Given the description of an element on the screen output the (x, y) to click on. 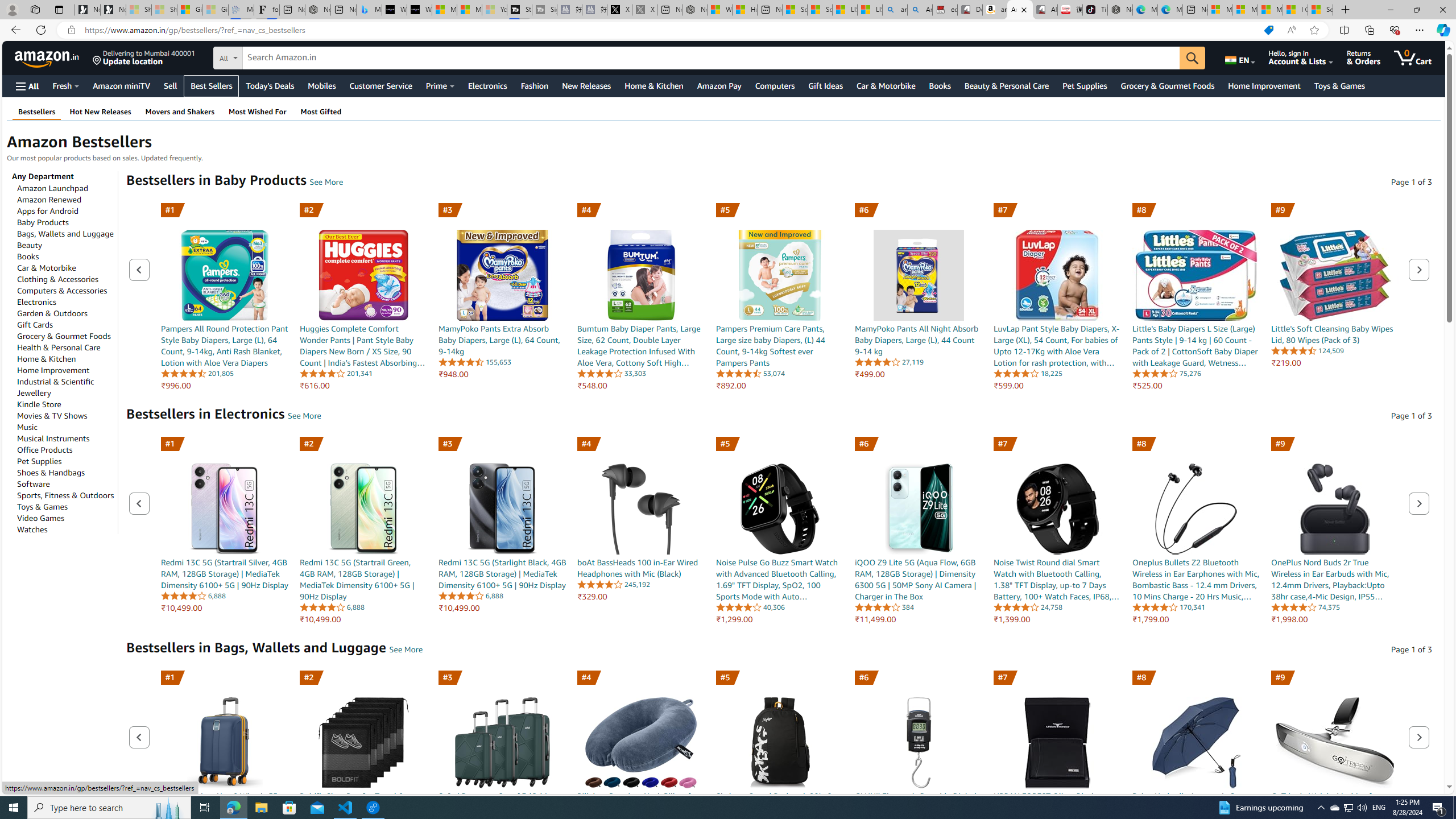
amazon - Search (894, 9)
